Given the description of an element on the screen output the (x, y) to click on. 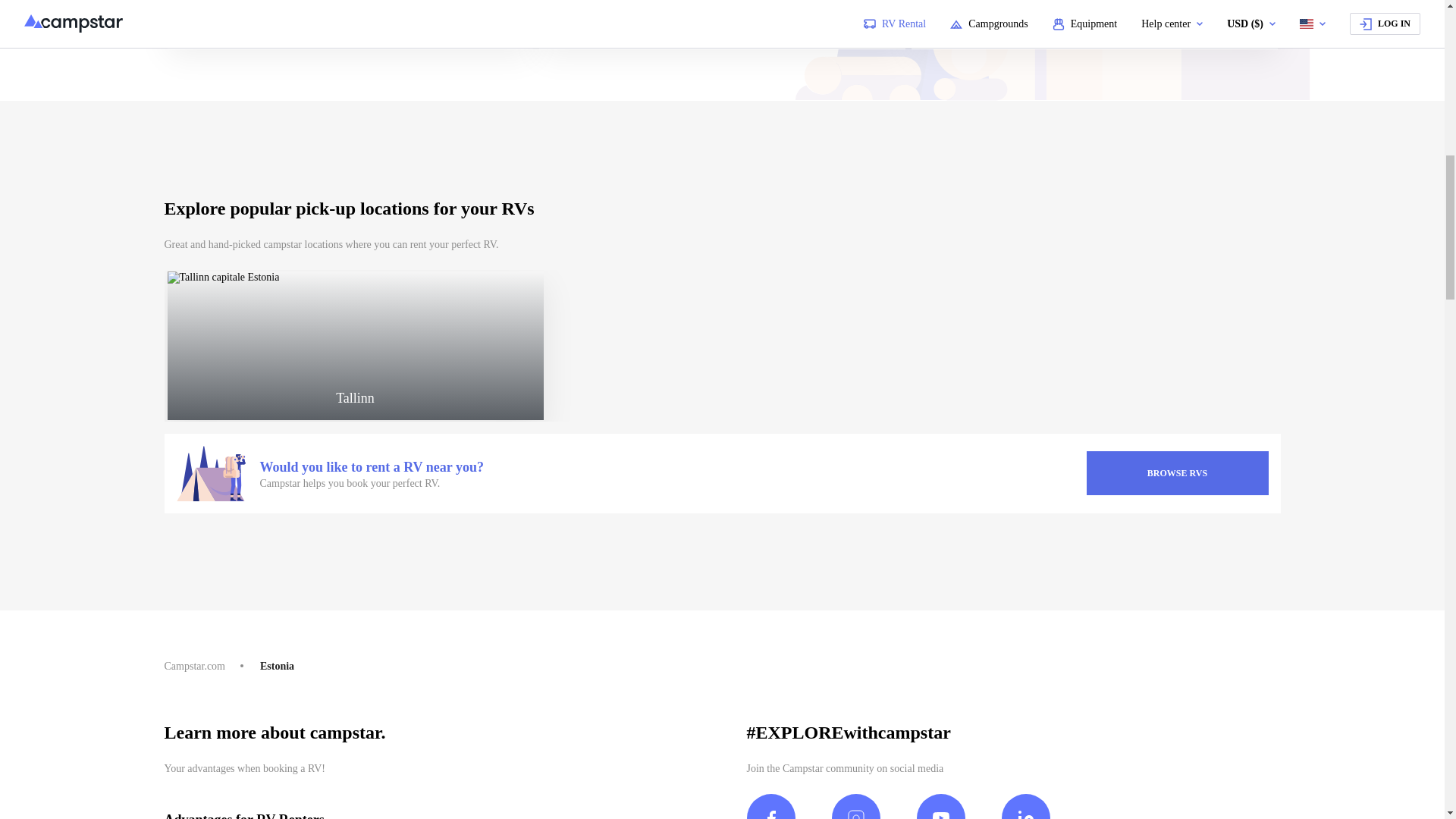
Estonia (277, 665)
BROWSE RVS (1177, 473)
Tallinn (354, 345)
Campstar.com (194, 665)
